Given the description of an element on the screen output the (x, y) to click on. 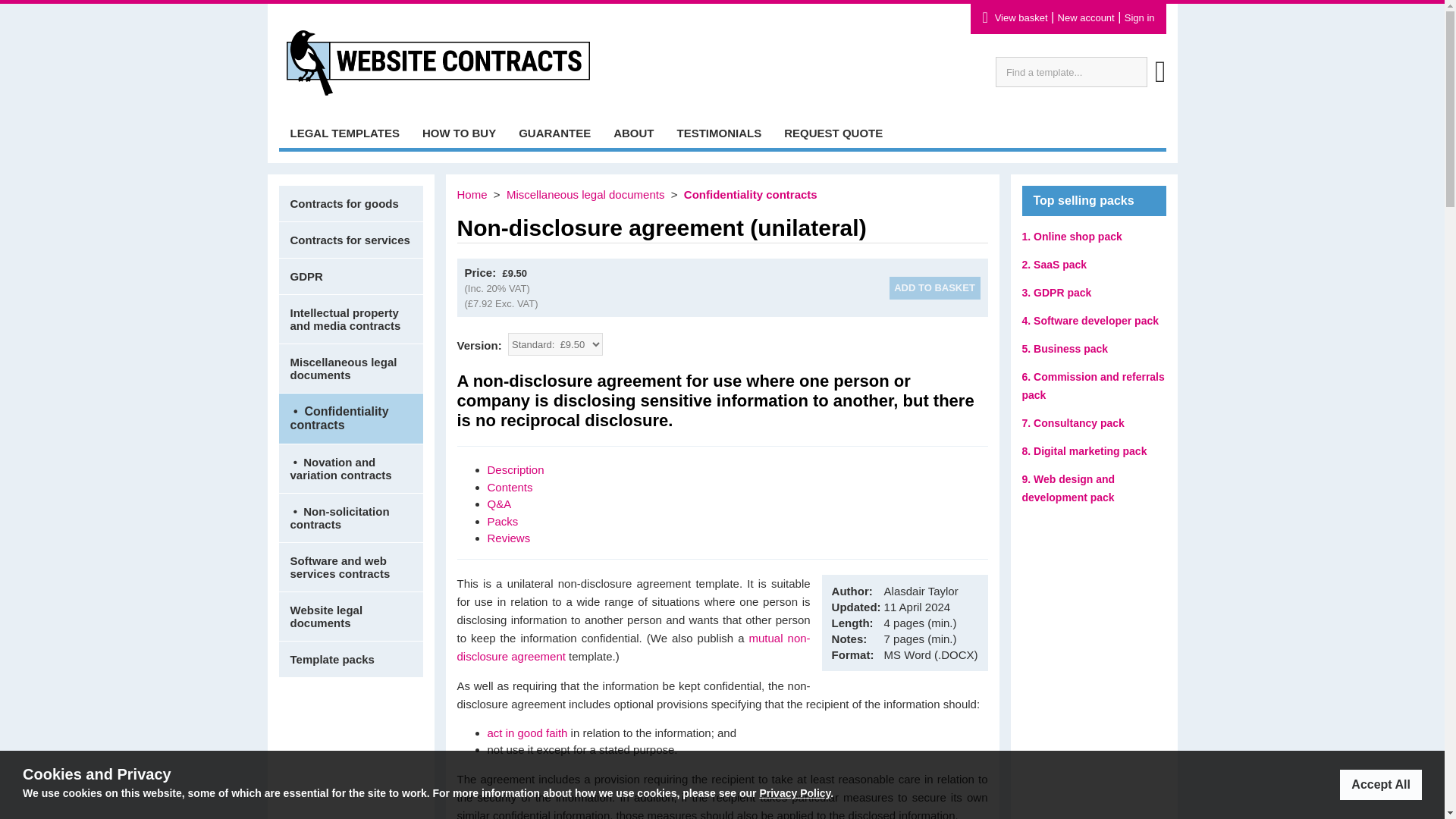
Description (514, 469)
Customer testimonials (719, 132)
4. Software developer pack (1090, 320)
Miscellaneous legal documents (351, 368)
act in good faith (526, 732)
ADD TO BASKET (933, 287)
Packs (502, 520)
Intellectual property and media contracts (351, 318)
Go (1160, 78)
mutual non-disclosure agreement (633, 645)
